Given the description of an element on the screen output the (x, y) to click on. 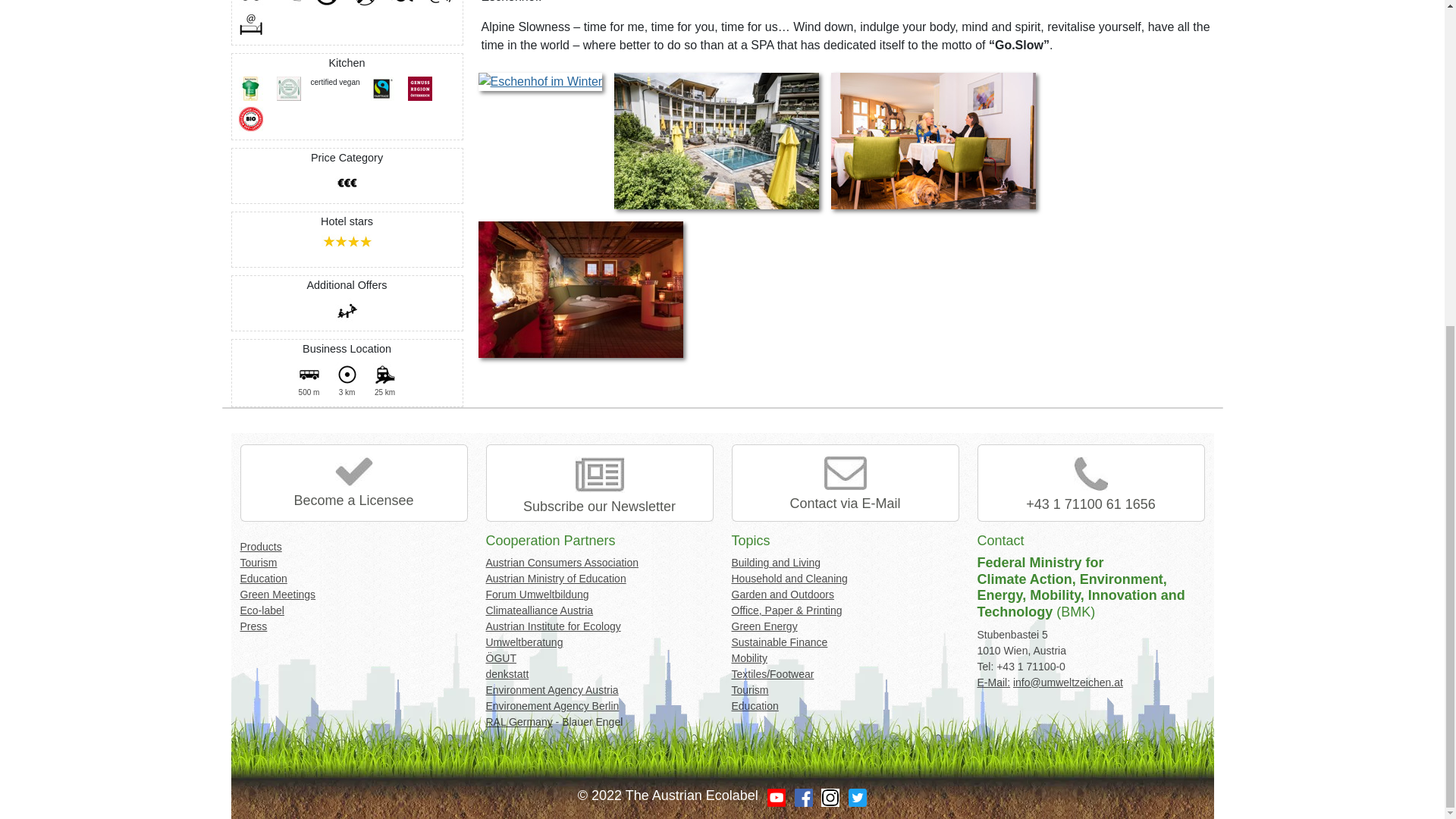
garden outside (287, 2)
? (346, 241)
AMA-Gastro-label (287, 88)
WIFI in rooms (250, 24)
quiet area (363, 2)
organic label (250, 119)
gourmet region partner (419, 88)
over 60 (346, 182)
non smoking (325, 2)
suitable for people with allergy (401, 2)
